Given the description of an element on the screen output the (x, y) to click on. 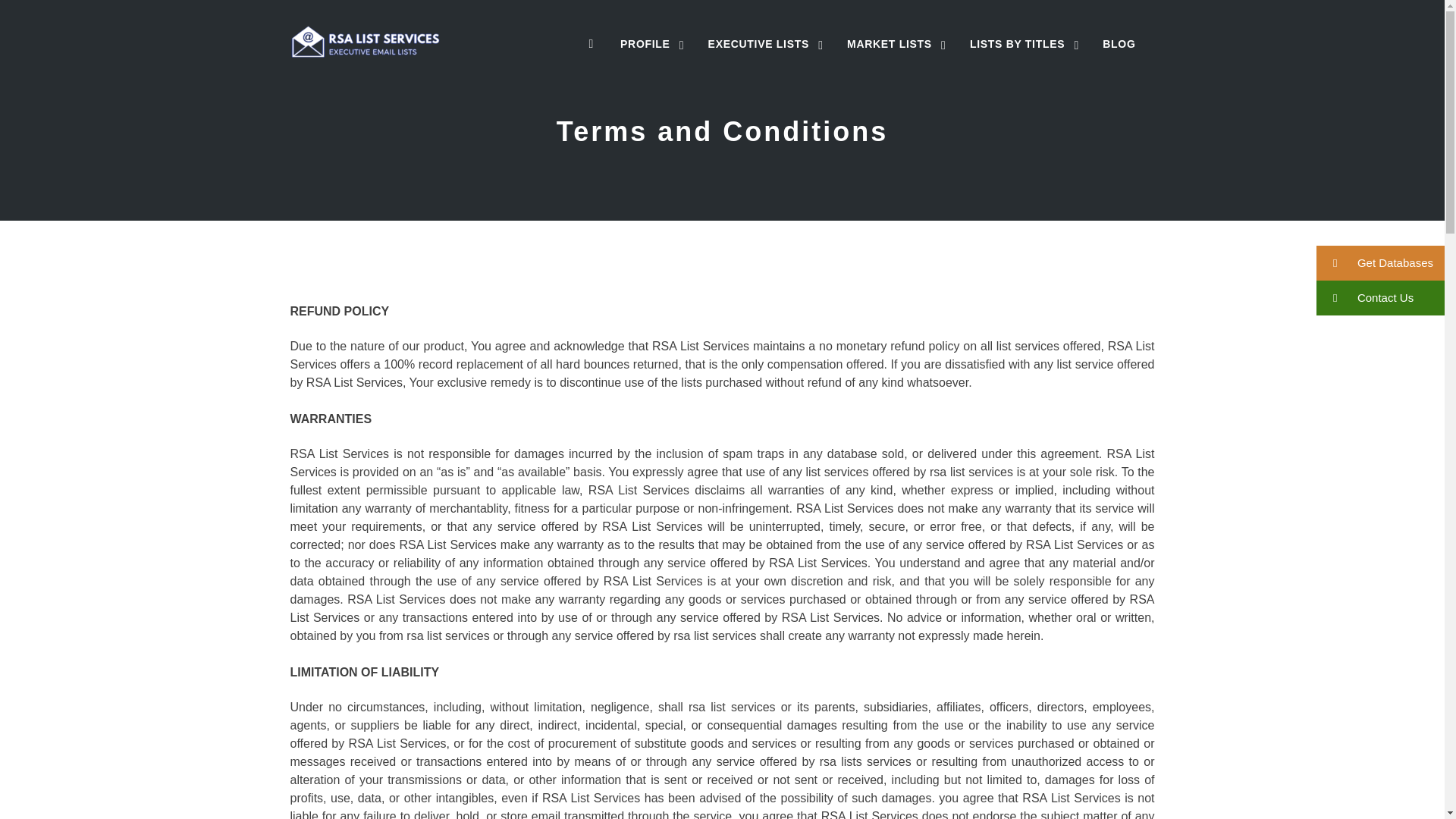
LISTS BY TITLES (1017, 43)
BLOG (1118, 43)
PROFILE (645, 43)
RSA Lists Corporation (365, 44)
EXECUTIVE LISTS (758, 43)
MARKET LISTS (889, 43)
